Given the description of an element on the screen output the (x, y) to click on. 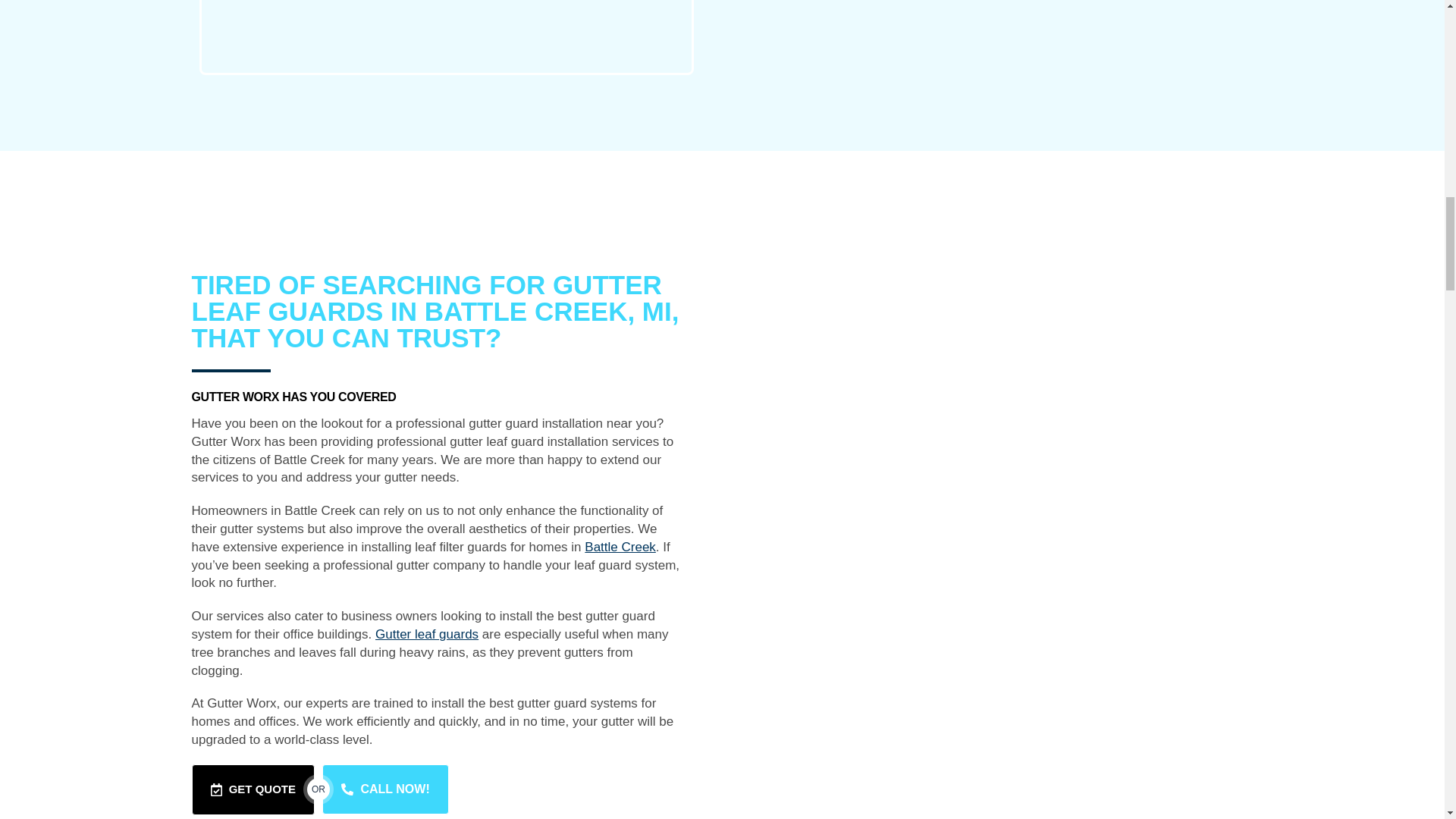
Battle Creek (620, 546)
Gutter leaf guards (427, 634)
GET QUOTE (252, 789)
CALL NOW! (384, 789)
